Given the description of an element on the screen output the (x, y) to click on. 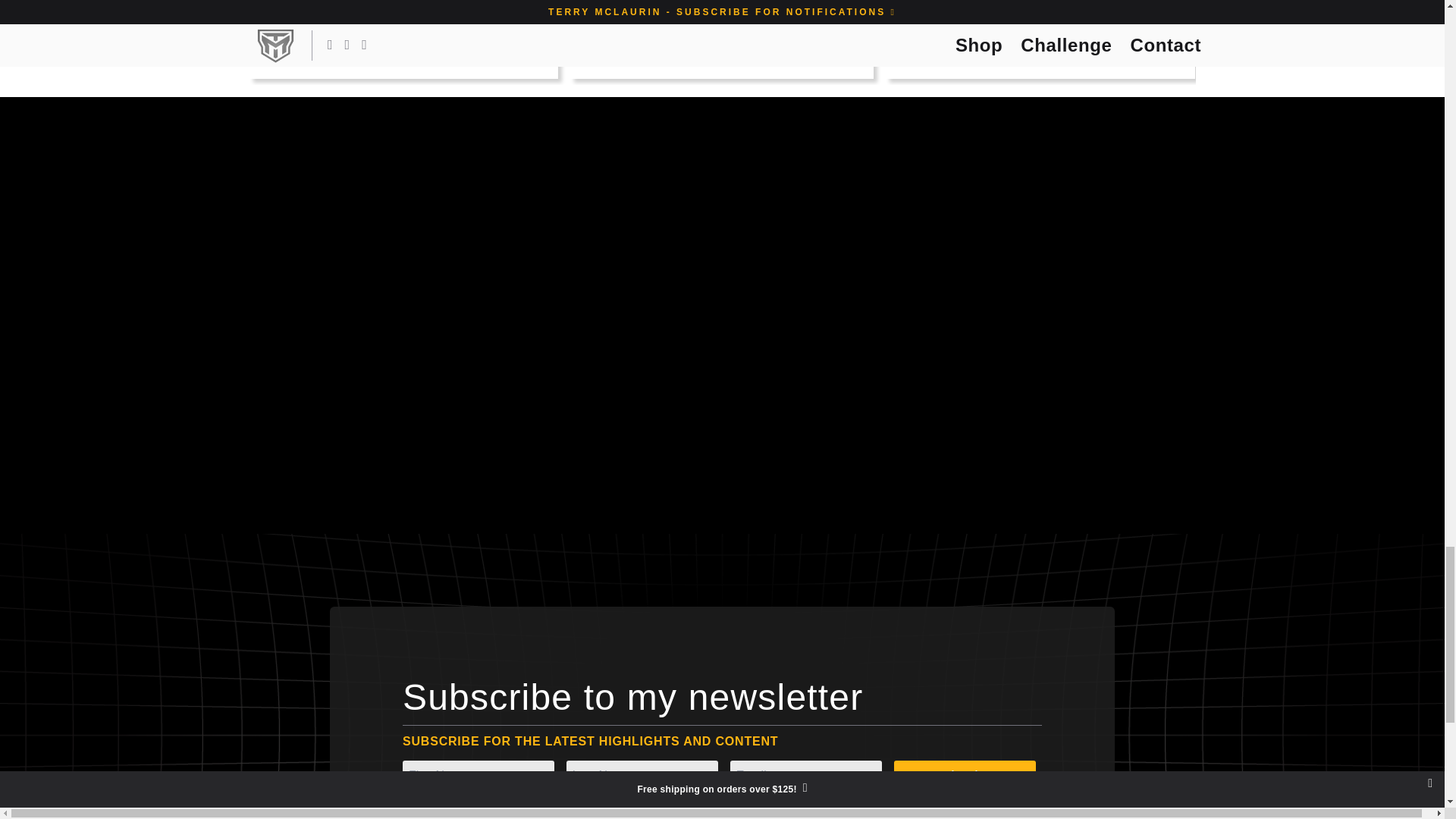
Subscribe! (964, 775)
Read More (484, 53)
Read More (799, 53)
Read More (1121, 53)
